Given the description of an element on the screen output the (x, y) to click on. 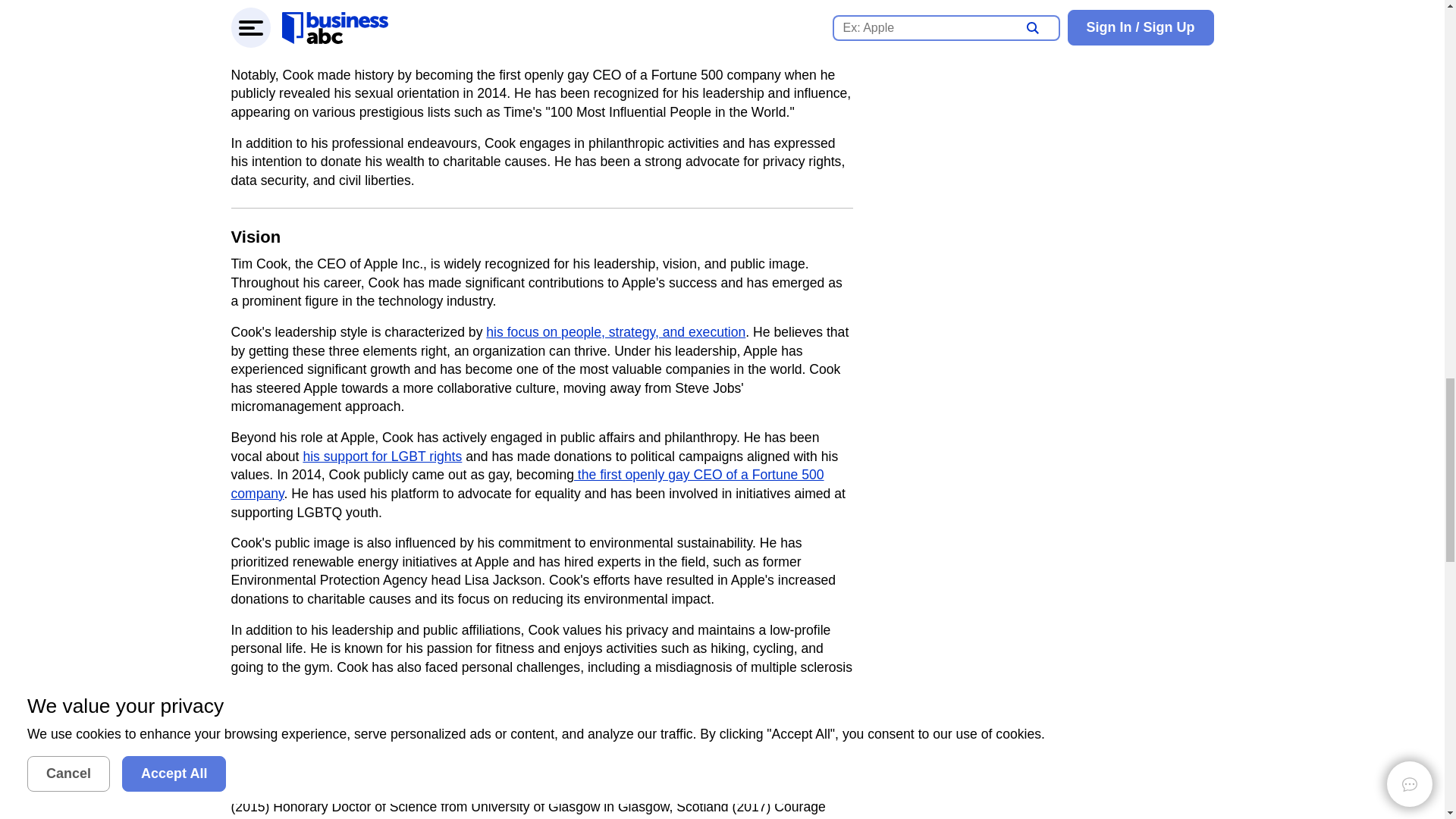
his focus on people, strategy, and execution (615, 331)
the first openly gay CEO of a Fortune 500 company (527, 483)
his support for LGBT rights (381, 456)
